Given the description of an element on the screen output the (x, y) to click on. 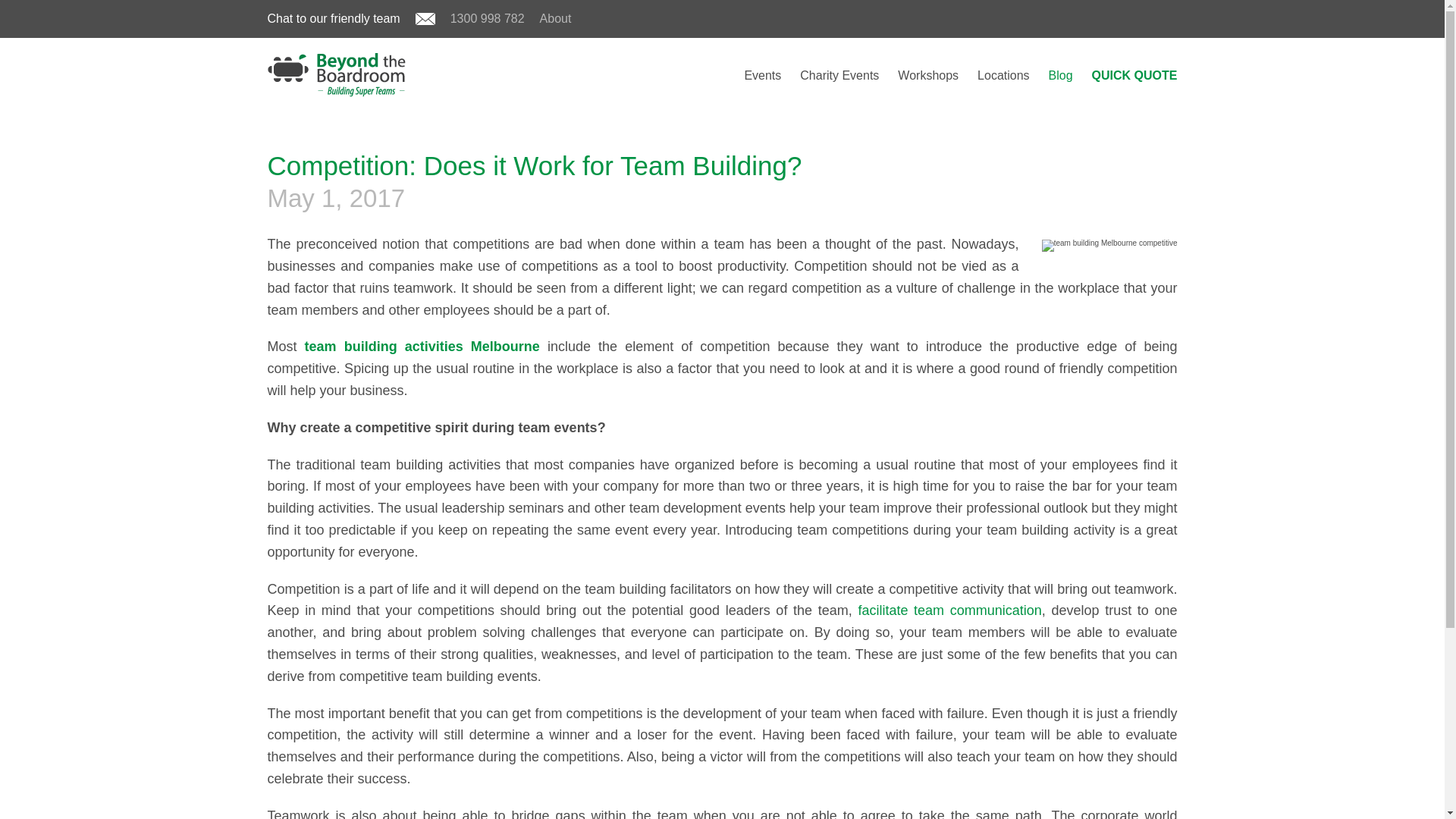
facilitate team communication (949, 610)
Team Building Activities  (762, 75)
Connect with us on LinkedIn (1161, 18)
Find us on Facebook (1088, 18)
Team Building Australia Wide (1002, 75)
Corporate Charity Events (839, 75)
team building activities Melbourne  (425, 346)
Follow us on Instagram (1124, 18)
Locations (1002, 75)
About (556, 18)
QUICK QUOTE (1134, 75)
Enquire Below! (1134, 75)
About Us (556, 18)
Email Beyond the Boardroom (424, 20)
Call Beyond the Boardroom (486, 18)
